Given the description of an element on the screen output the (x, y) to click on. 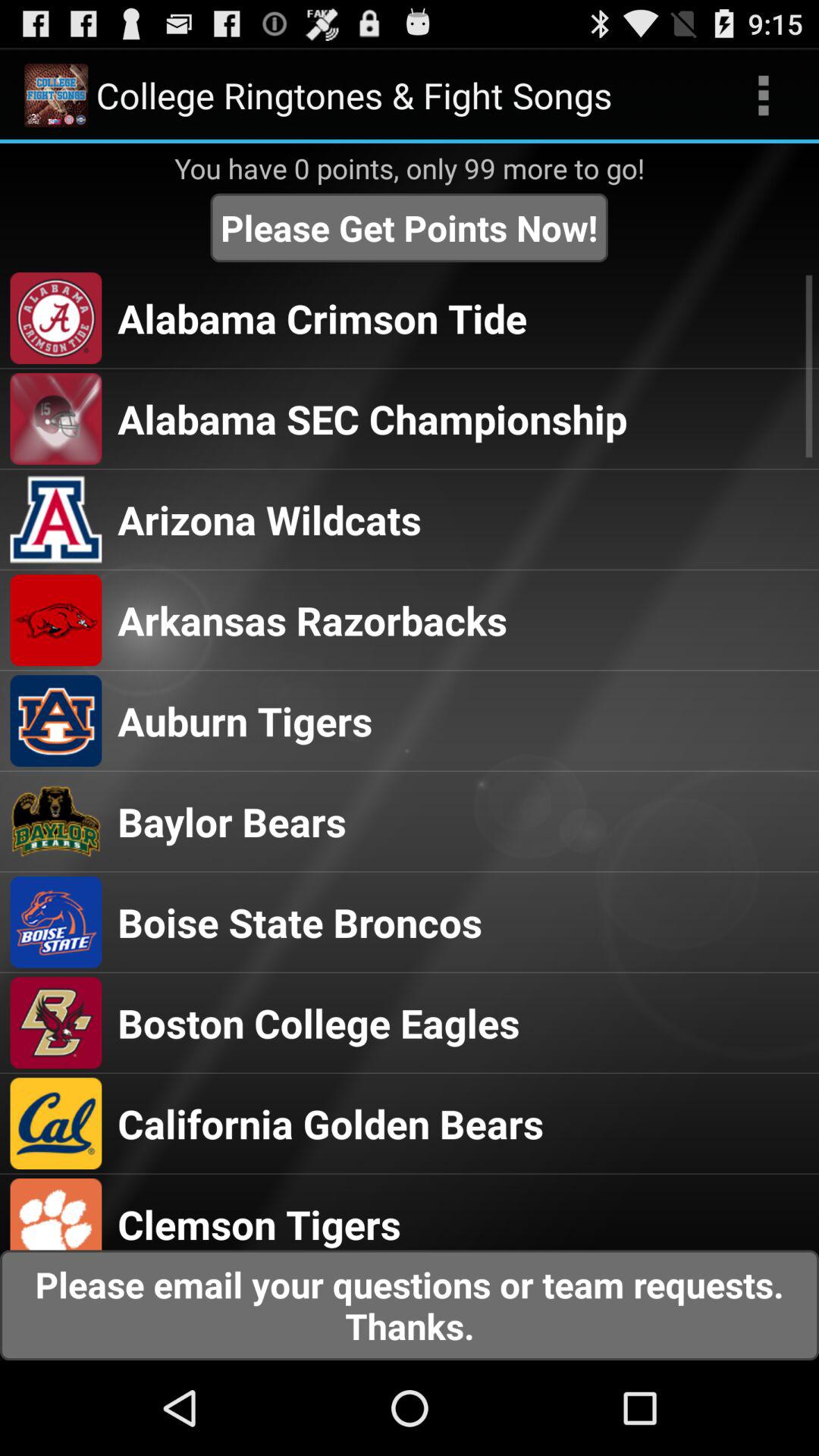
turn on item below the alabama crimson tide icon (372, 418)
